Given the description of an element on the screen output the (x, y) to click on. 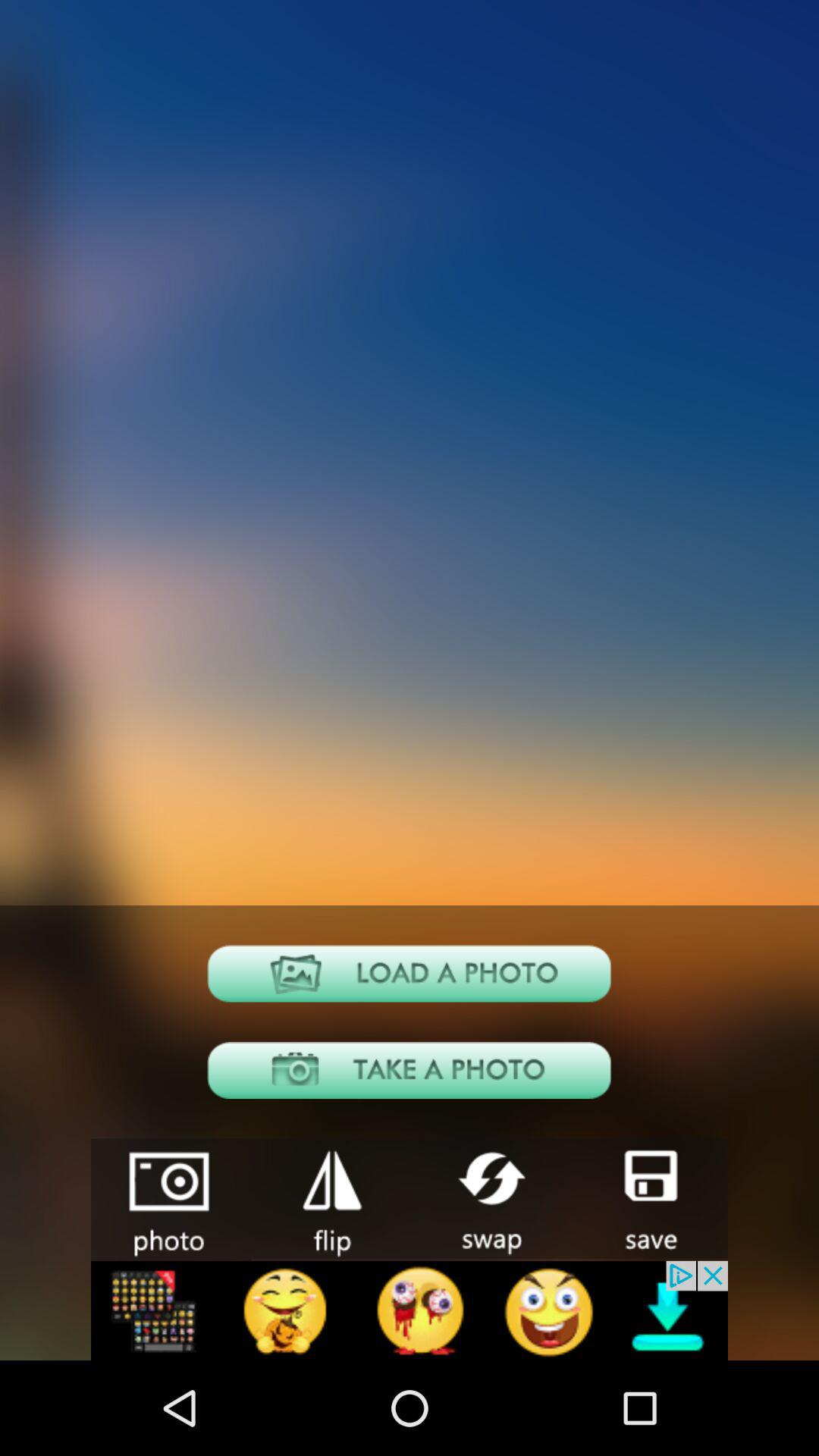
advertisement banner would take off site (409, 1310)
